Given the description of an element on the screen output the (x, y) to click on. 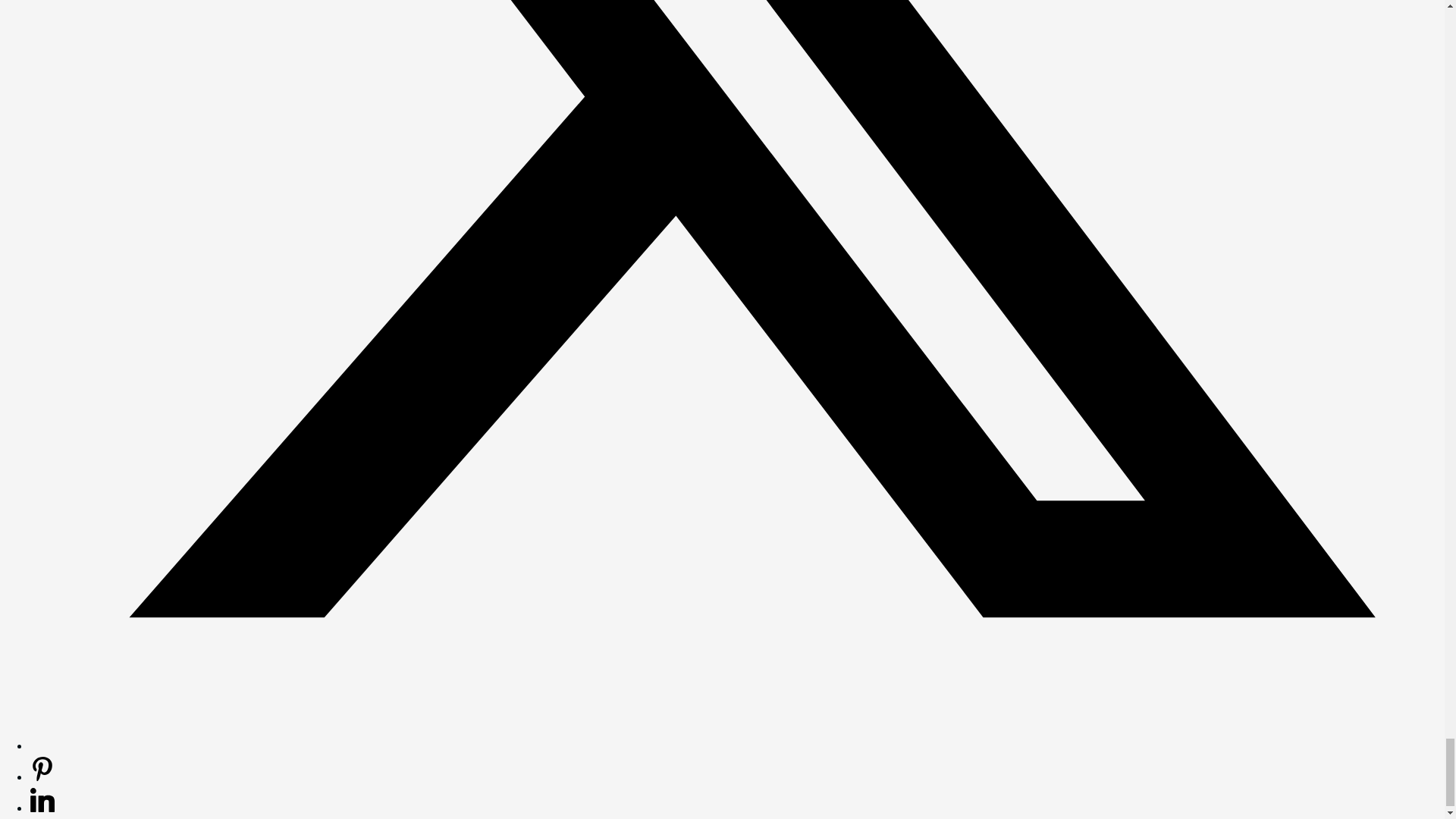
Share on Pinterest (42, 776)
Share on LinkedIn (42, 807)
